Given the description of an element on the screen output the (x, y) to click on. 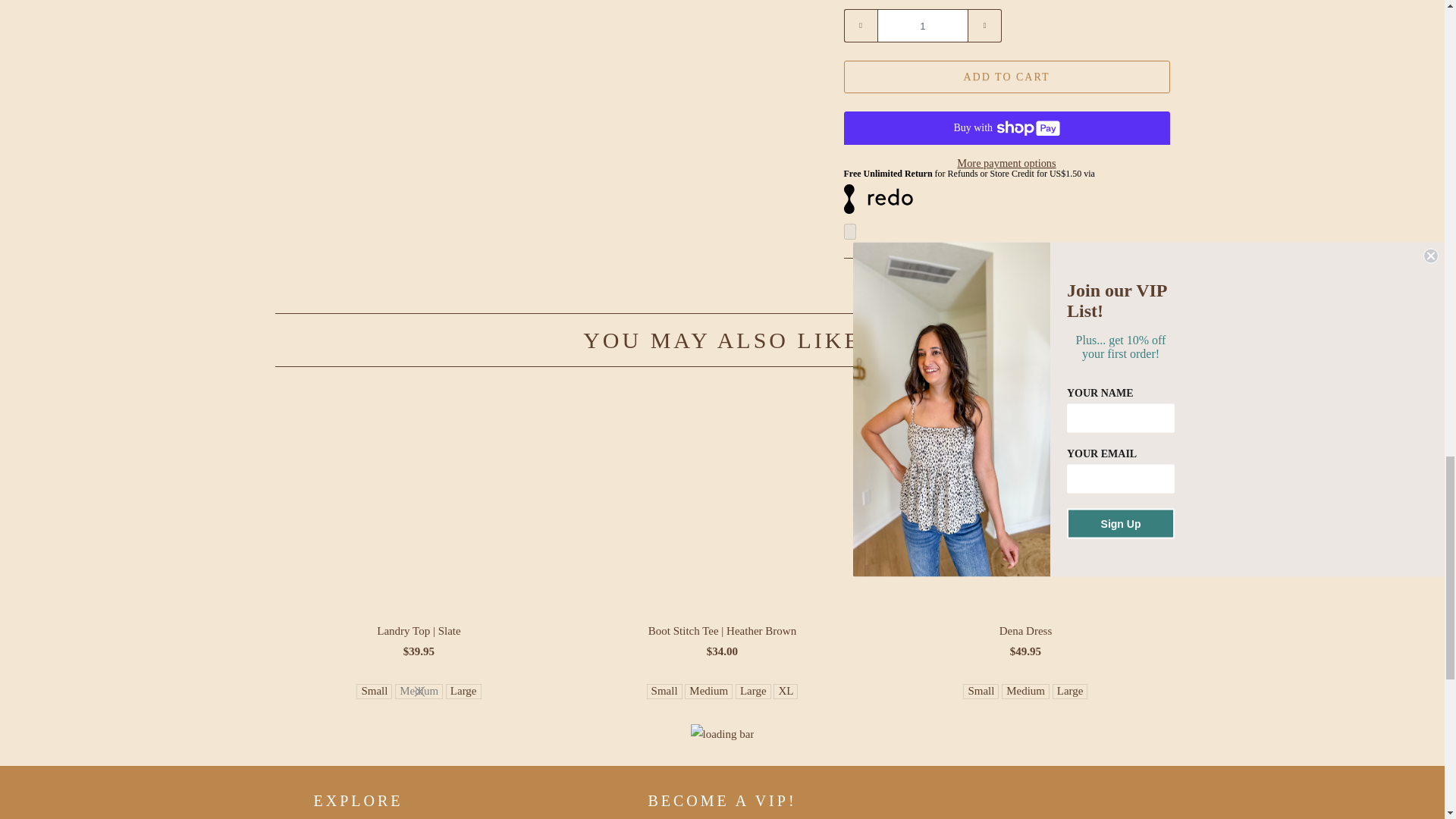
Share this on Pinterest (1029, 288)
Email this to a friend (1079, 288)
1 (922, 25)
Share this on Twitter (928, 288)
Share this on Facebook (979, 288)
